Given the description of an element on the screen output the (x, y) to click on. 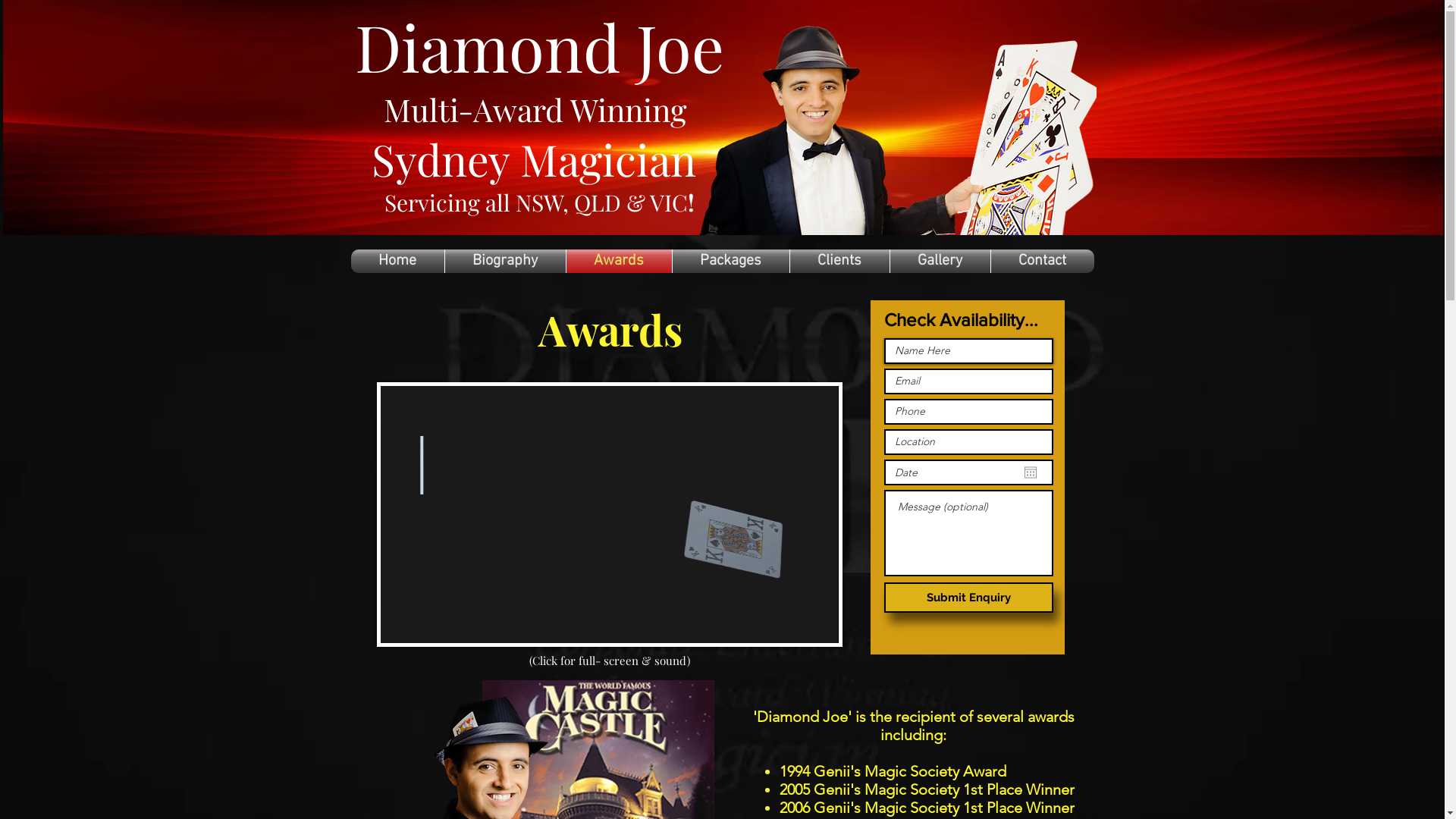
Awards Element type: text (618, 261)
Biography Element type: text (504, 261)
Clients Element type: text (839, 261)
Submit Enquiry Element type: text (968, 597)
Contact Element type: text (1041, 261)
Gallery Element type: text (940, 261)
Packages Element type: text (729, 261)
Home Element type: text (396, 261)
